Given the description of an element on the screen output the (x, y) to click on. 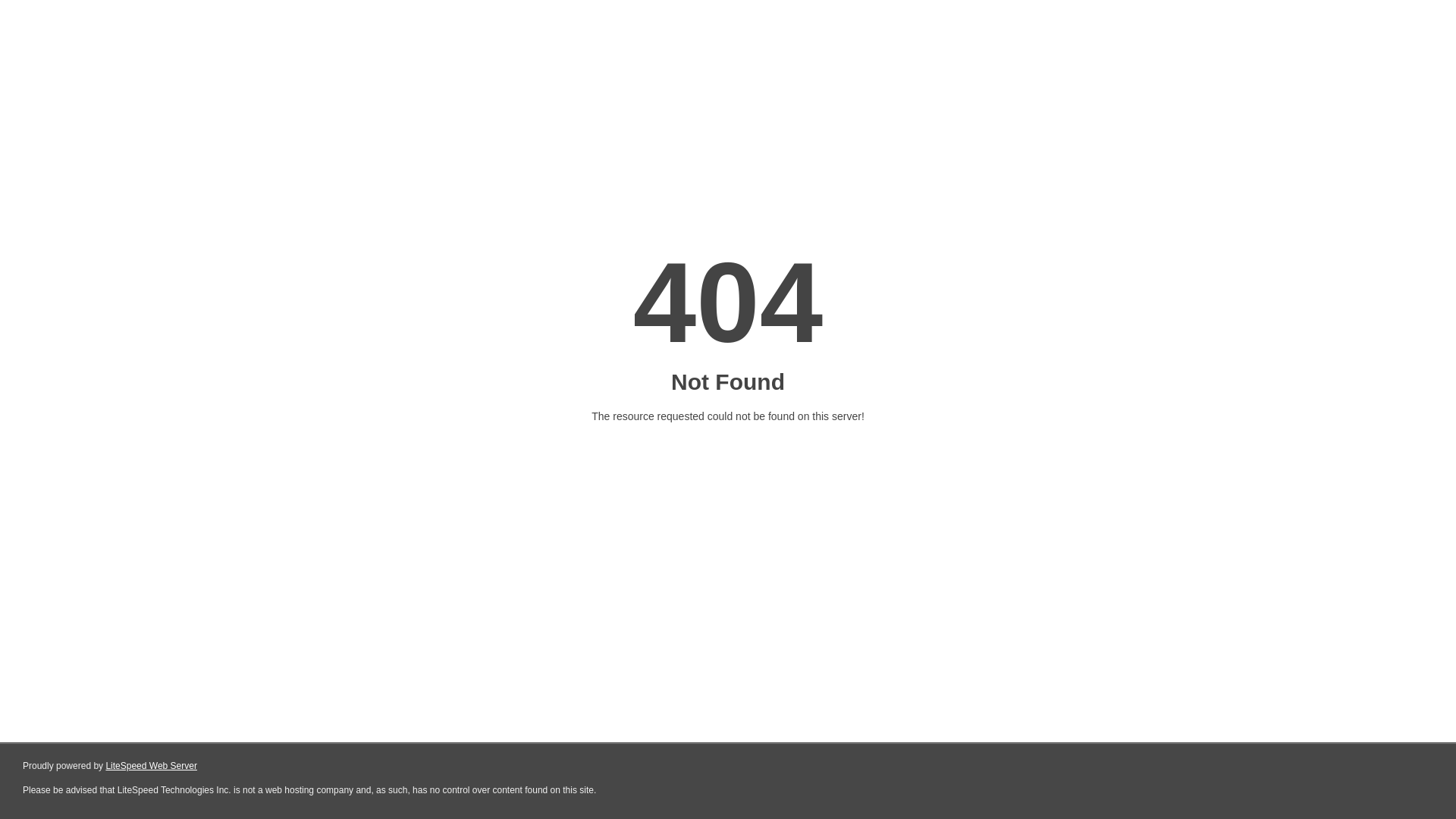
LiteSpeed Web Server Element type: text (151, 765)
